Given the description of an element on the screen output the (x, y) to click on. 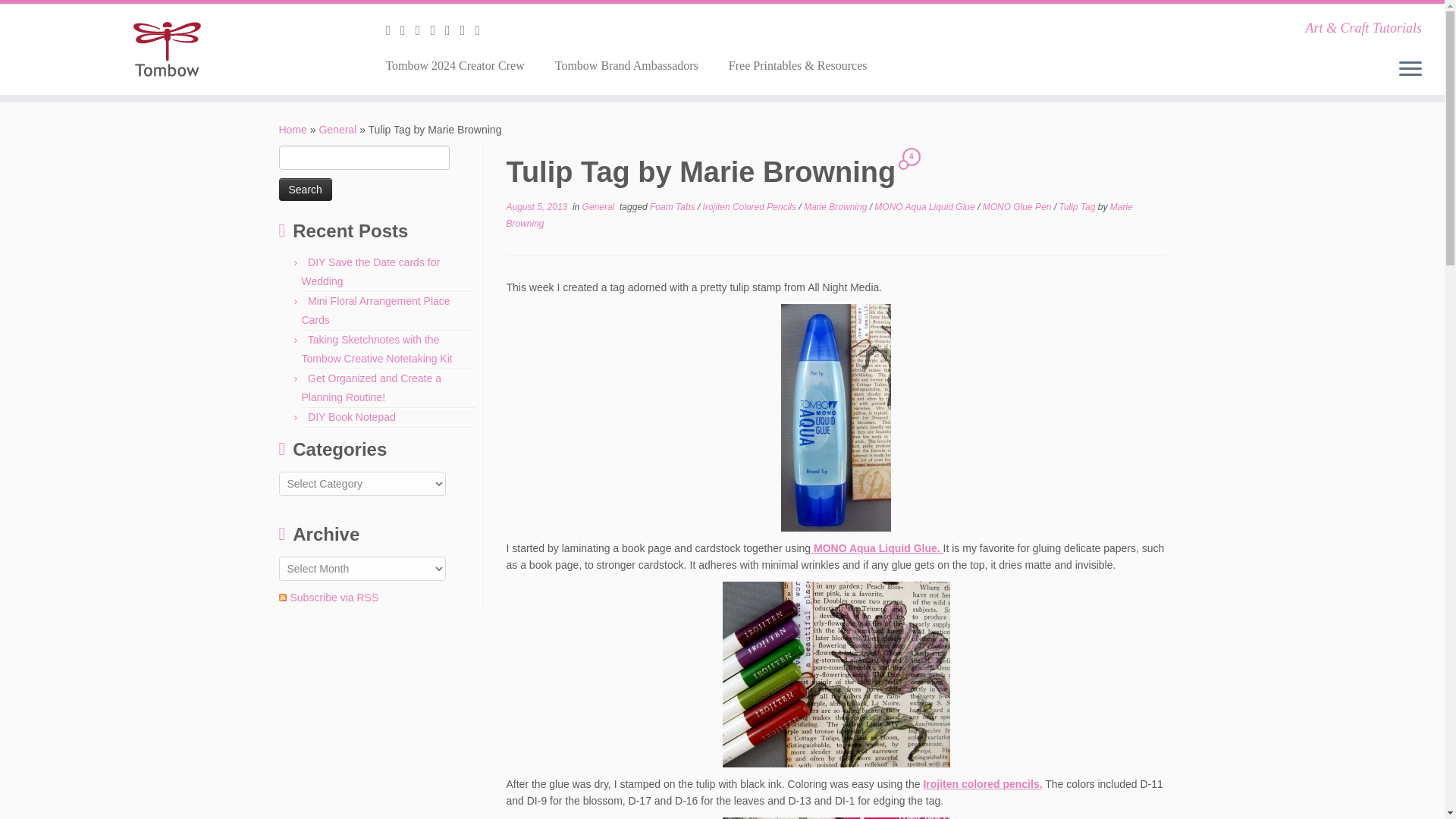
Marie Browning (819, 215)
General (337, 129)
MONO Aqua Liquid Glue (925, 206)
Tombow USA Blog (293, 129)
Home (293, 129)
General (337, 129)
Follow me on Instagram (437, 29)
E-mail (392, 29)
Mini Floral Arrangement Place Cards (375, 309)
Tulip Tag (1077, 206)
